Given the description of an element on the screen output the (x, y) to click on. 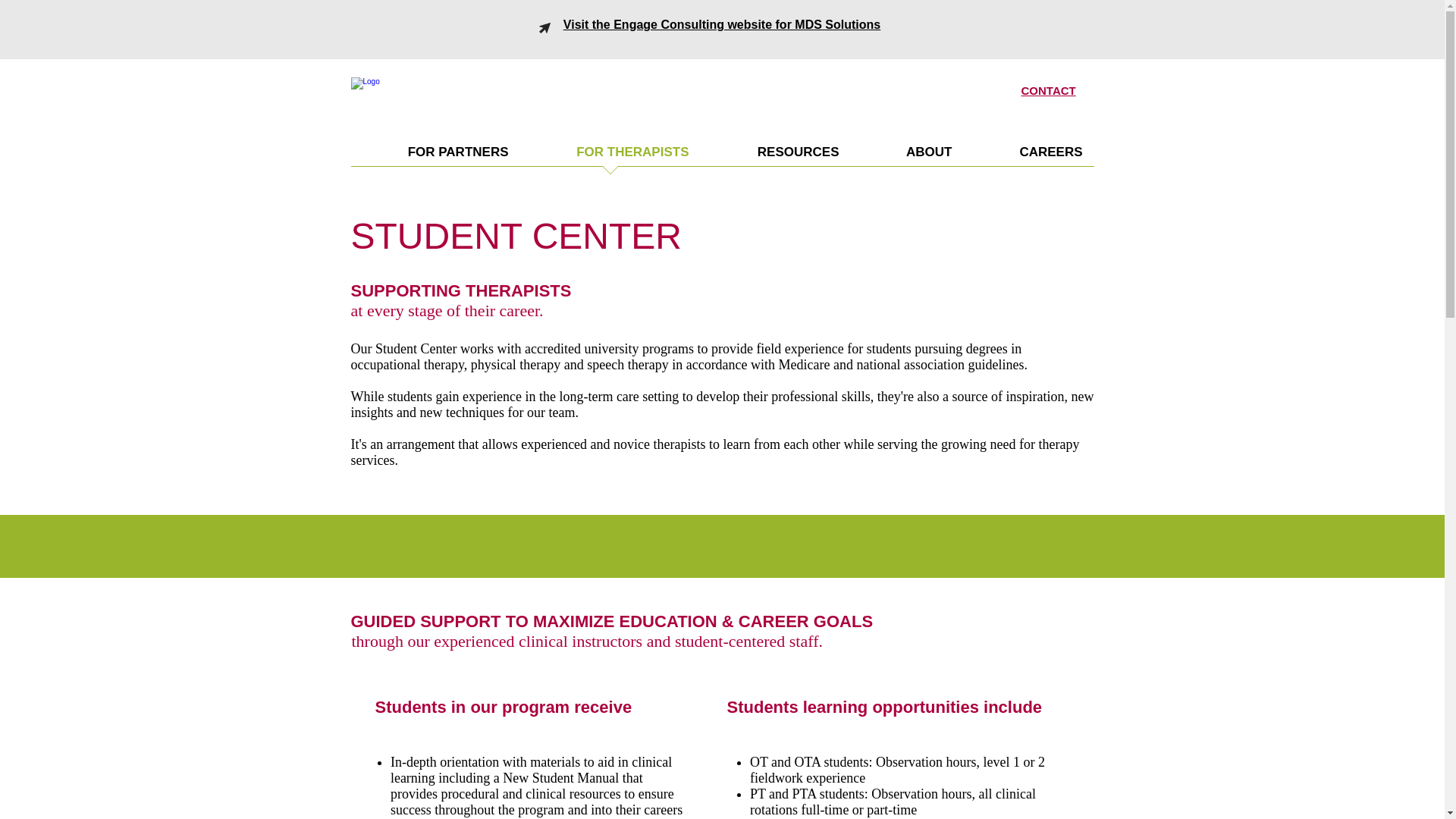
Visit the Engage Consulting website for MDS Solutions (721, 24)
CONTACT (1047, 90)
ABOUT (906, 157)
CAREERS (1027, 157)
RESOURCES (775, 157)
FOR PARTNERS (434, 157)
FOR THERAPISTS (609, 157)
